Given the description of an element on the screen output the (x, y) to click on. 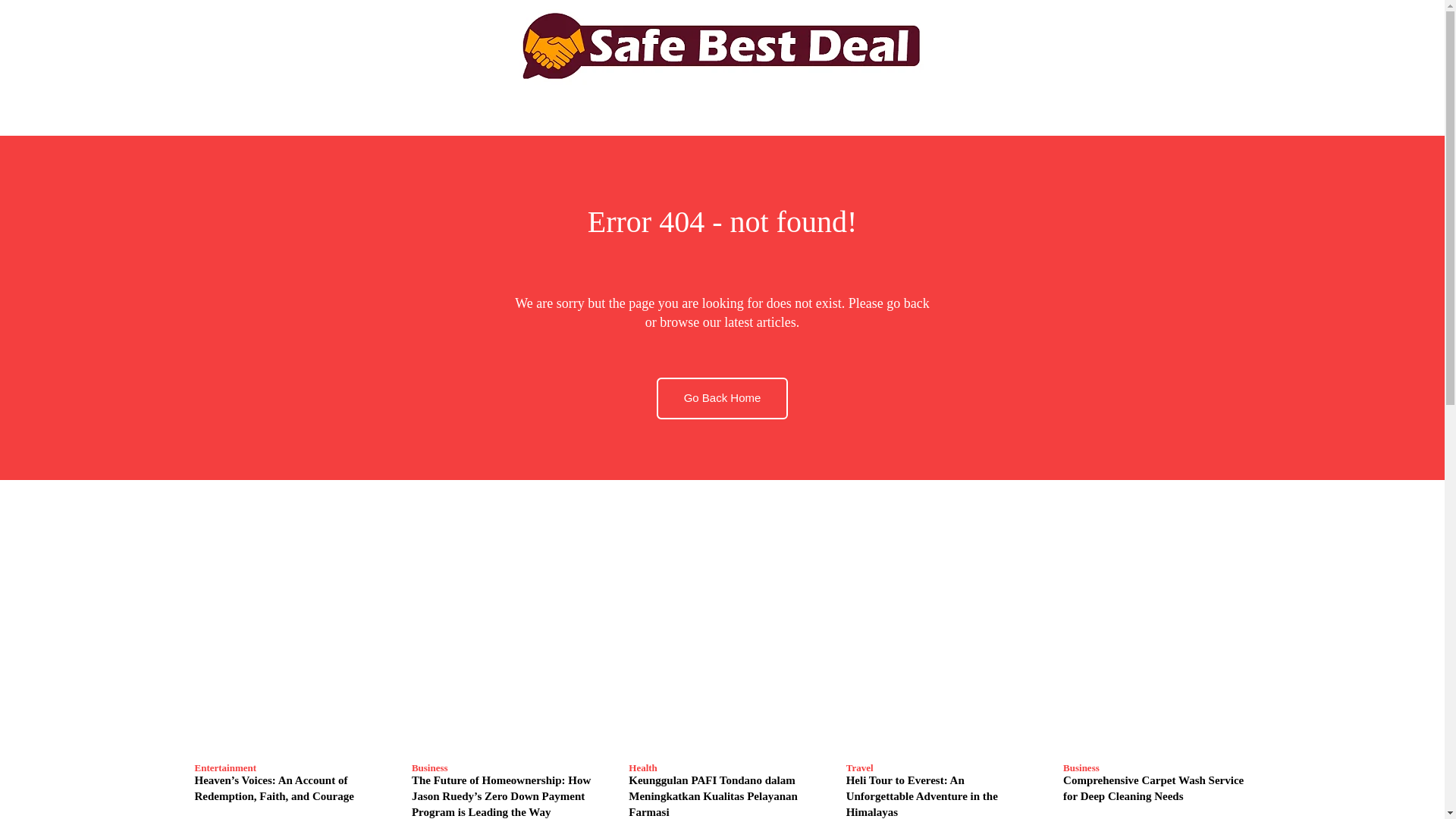
Business (1080, 767)
Go Back Home (722, 398)
Go Back Home (722, 398)
Entertainment (224, 767)
Health (643, 767)
Business (430, 767)
